Given the description of an element on the screen output the (x, y) to click on. 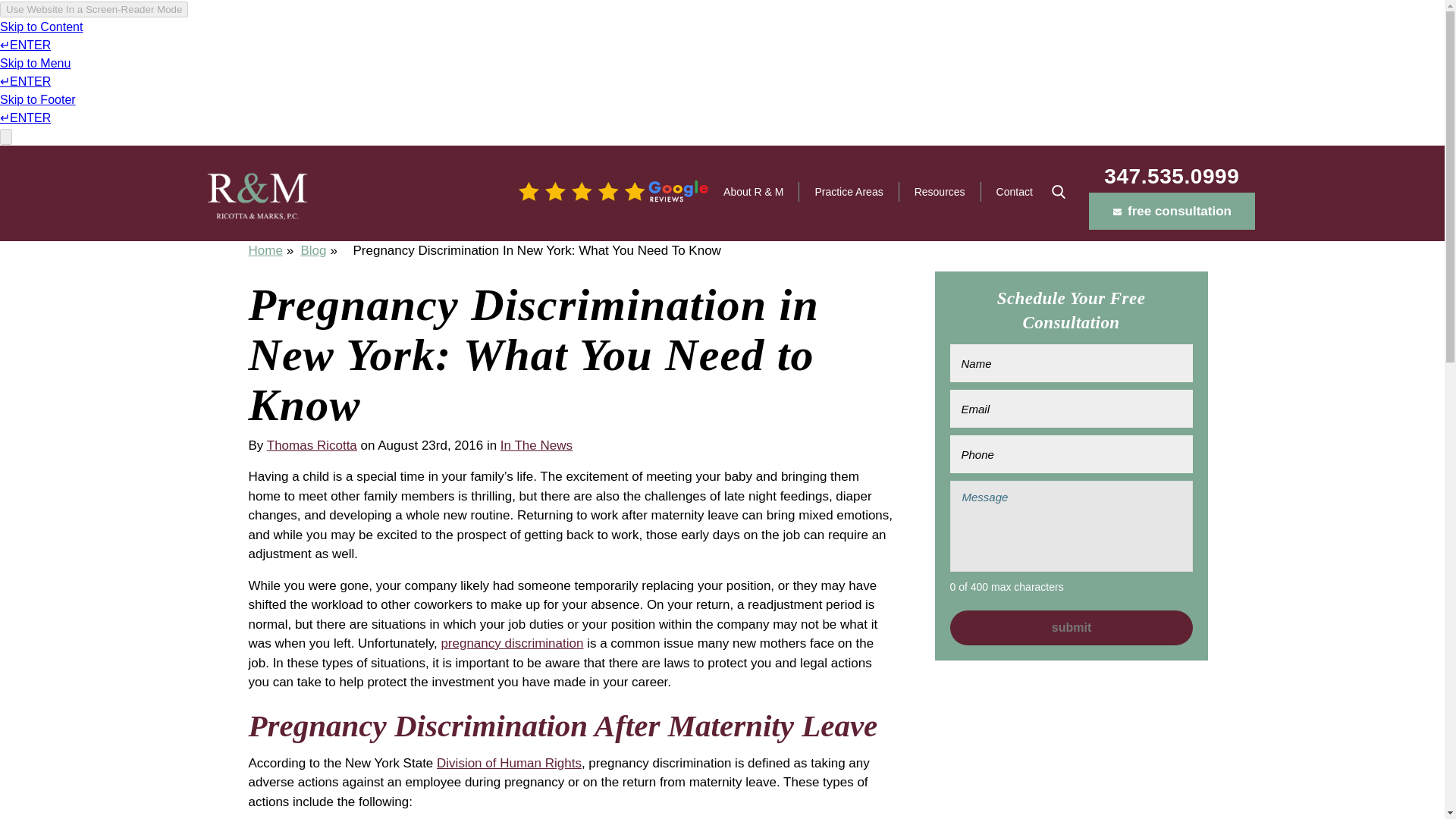
Posts by Thomas Ricotta (311, 445)
submit (1070, 627)
